Given the description of an element on the screen output the (x, y) to click on. 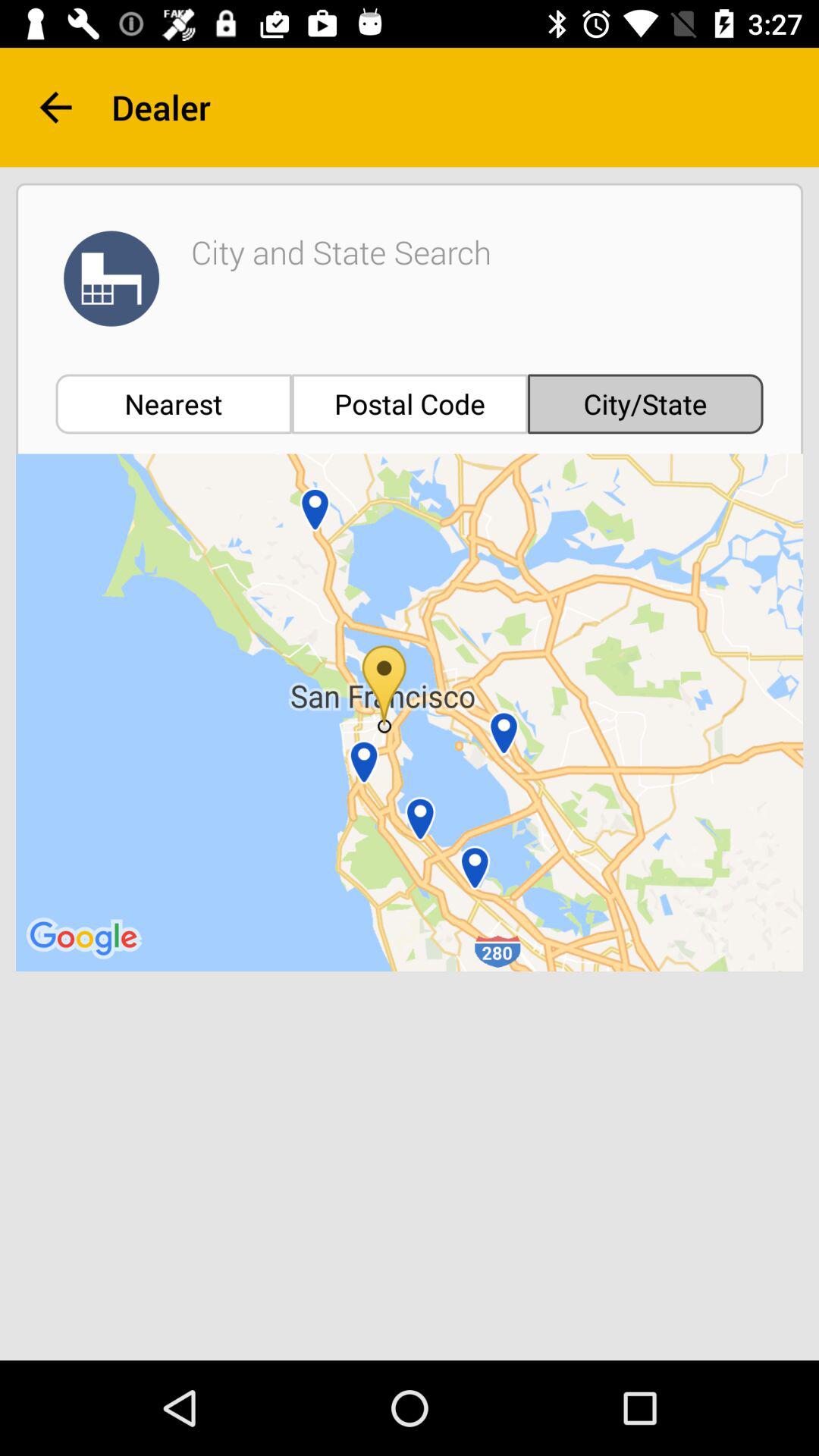
press the item to the left of postal code icon (173, 403)
